Given the description of an element on the screen output the (x, y) to click on. 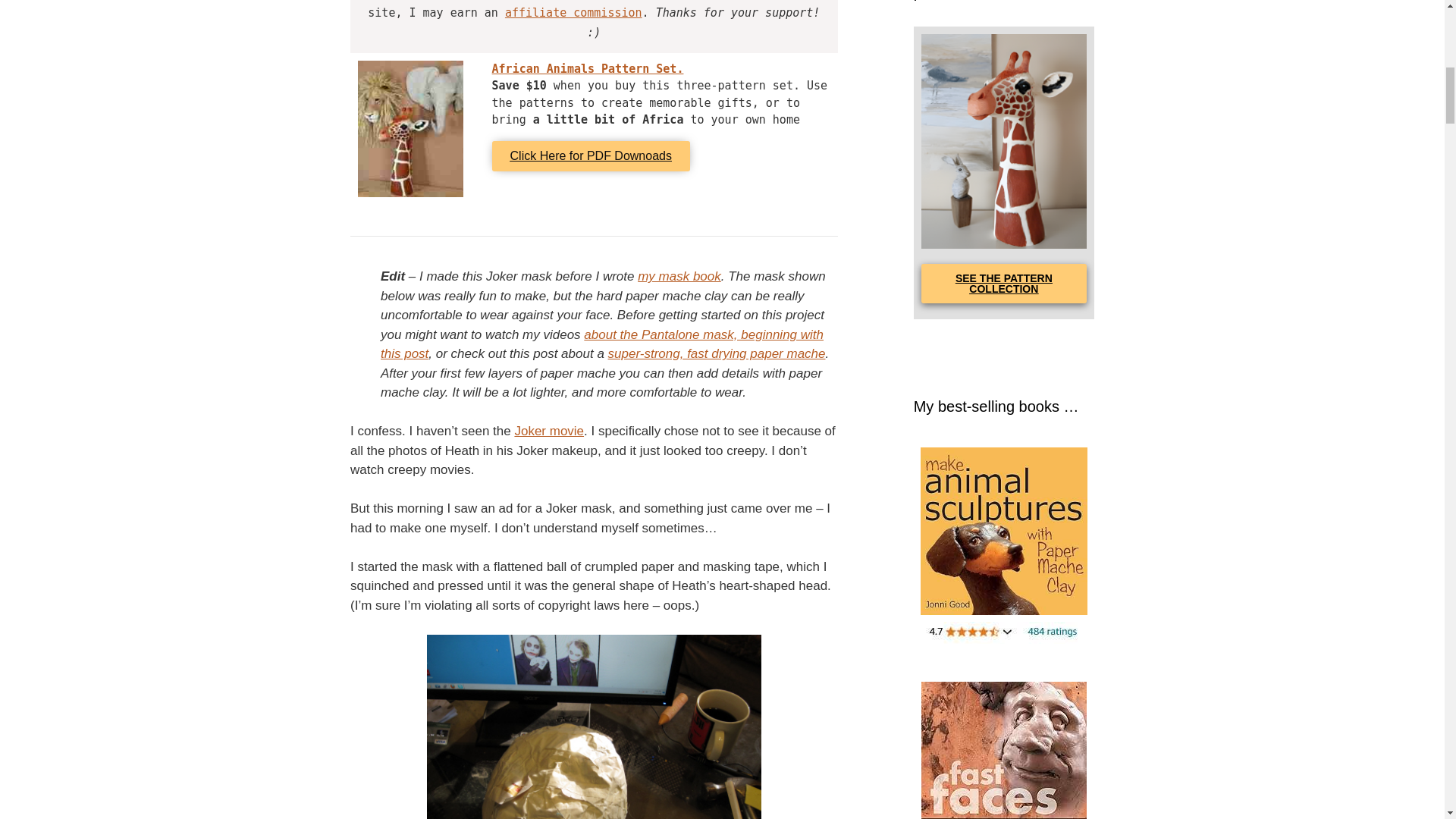
my mask book (678, 276)
Starting the Joker Mask (593, 726)
African Animals Pattern Set. (588, 69)
Click Here for PDF Downoads (591, 155)
super-strong, fast drying paper mache (716, 353)
Joker movie (548, 431)
about the Pantalone mask, beginning with this post (602, 344)
affiliate commission (573, 12)
